Given the description of an element on the screen output the (x, y) to click on. 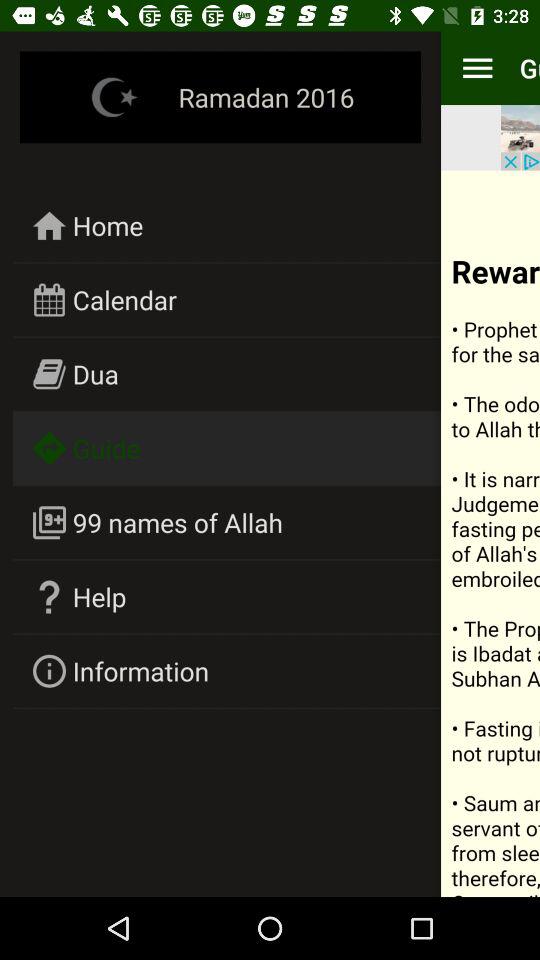
launch item to the right of ramadan 2016 icon (477, 68)
